Given the description of an element on the screen output the (x, y) to click on. 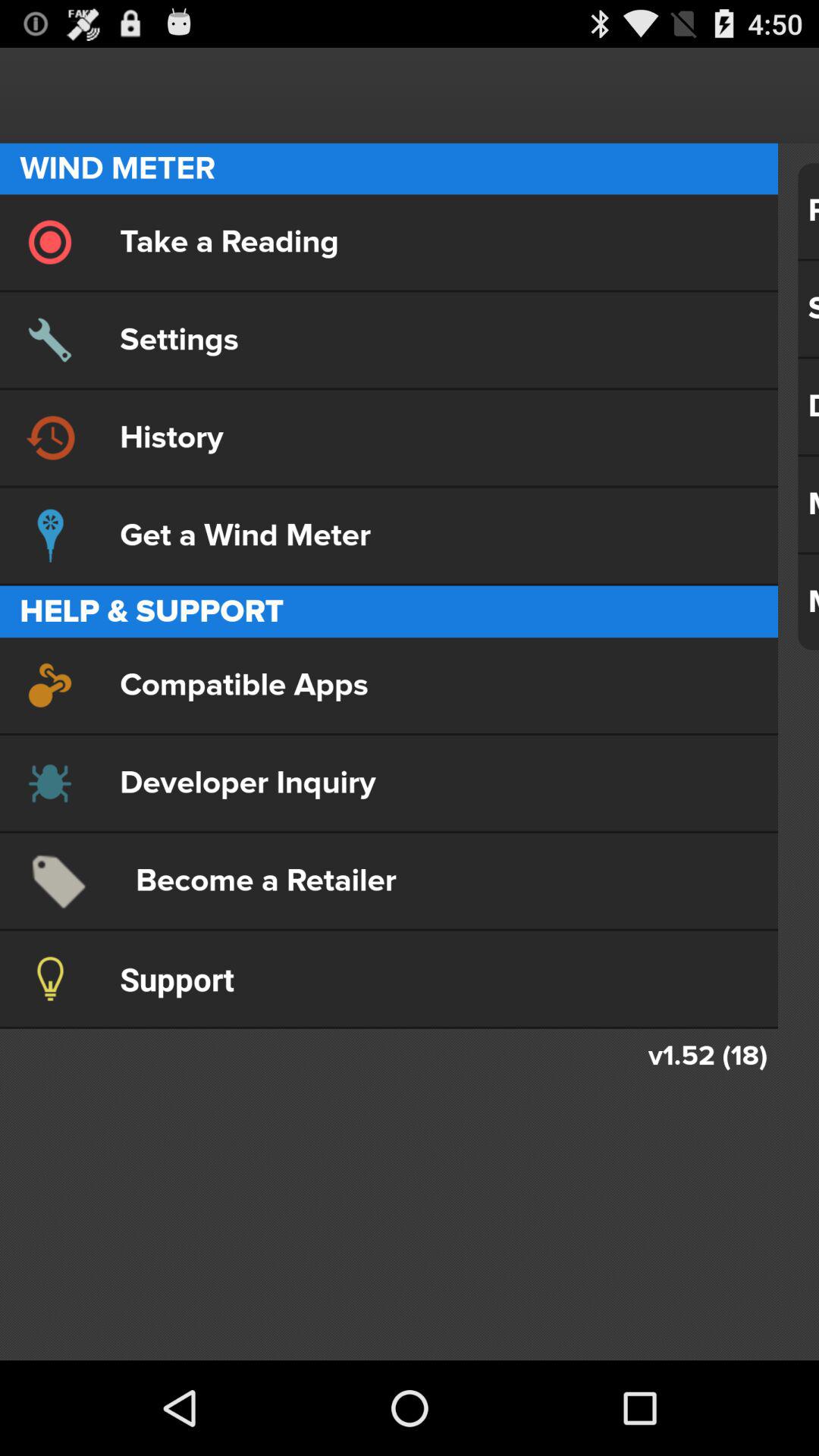
jump to developer inquiry (389, 782)
